Given the description of an element on the screen output the (x, y) to click on. 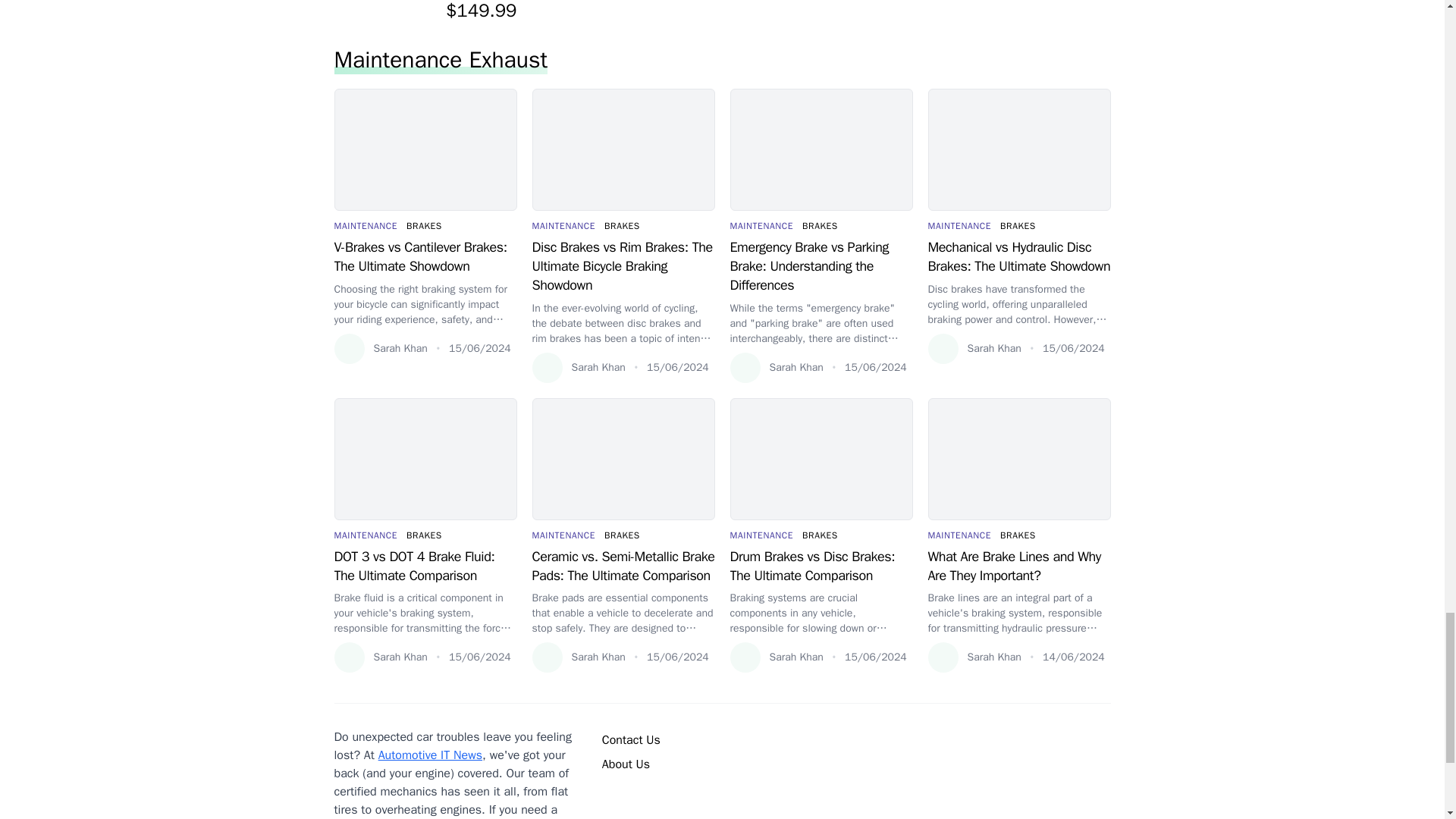
MAINTENANCE (563, 225)
BRAKES (622, 225)
V-Brakes vs Cantilever Brakes: The Ultimate Showdown (424, 257)
MAINTENANCE (365, 225)
BRAKES (424, 225)
Sarah Khan (379, 348)
